Given the description of an element on the screen output the (x, y) to click on. 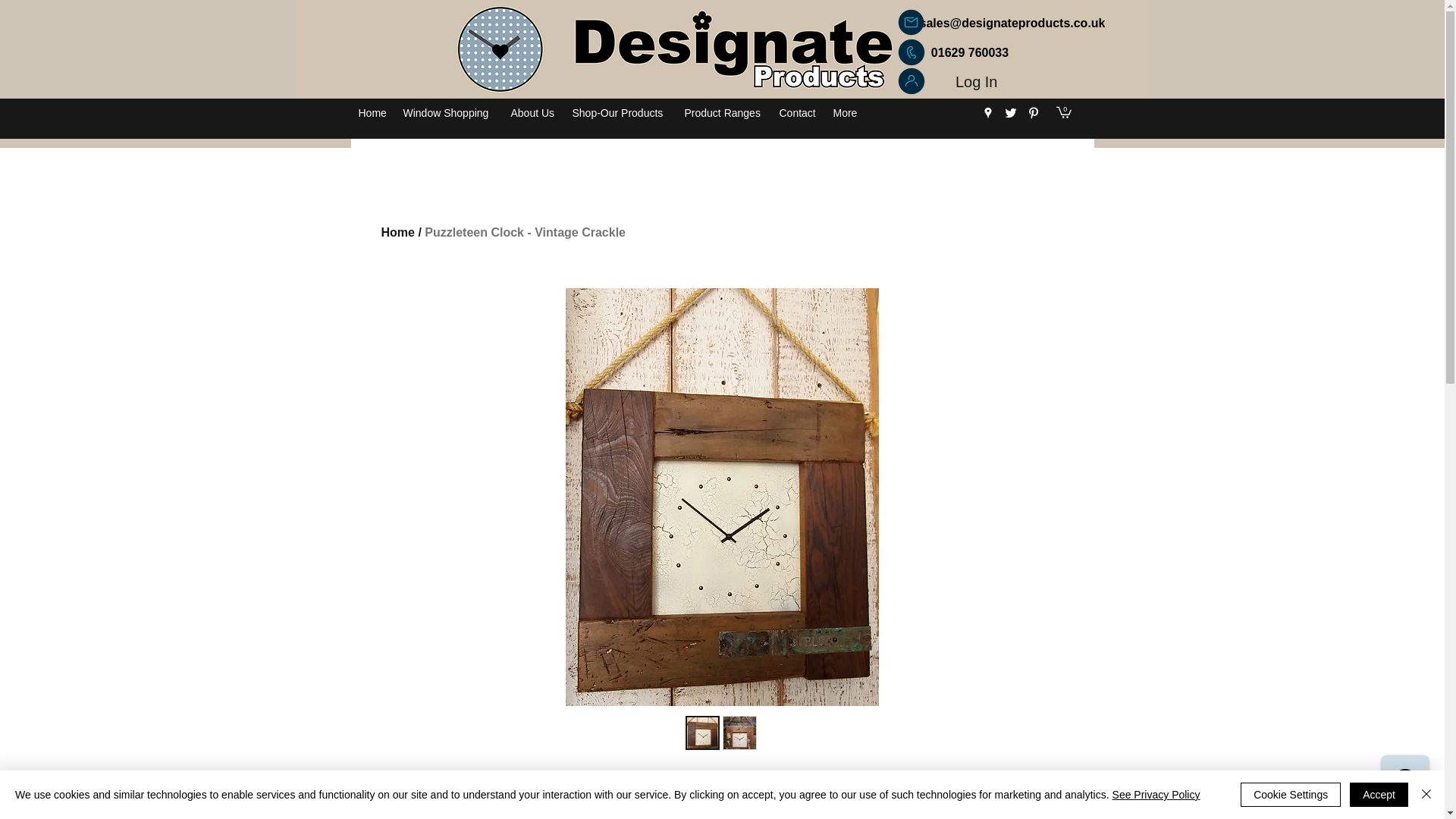
Log In (976, 81)
Shop-Our Products (620, 112)
0 (1062, 111)
Window Shopping (449, 112)
0 (1062, 111)
01629 760033 (968, 52)
Home (372, 112)
Product Ranges (724, 112)
Contact (798, 112)
About Us (533, 112)
